Given the description of an element on the screen output the (x, y) to click on. 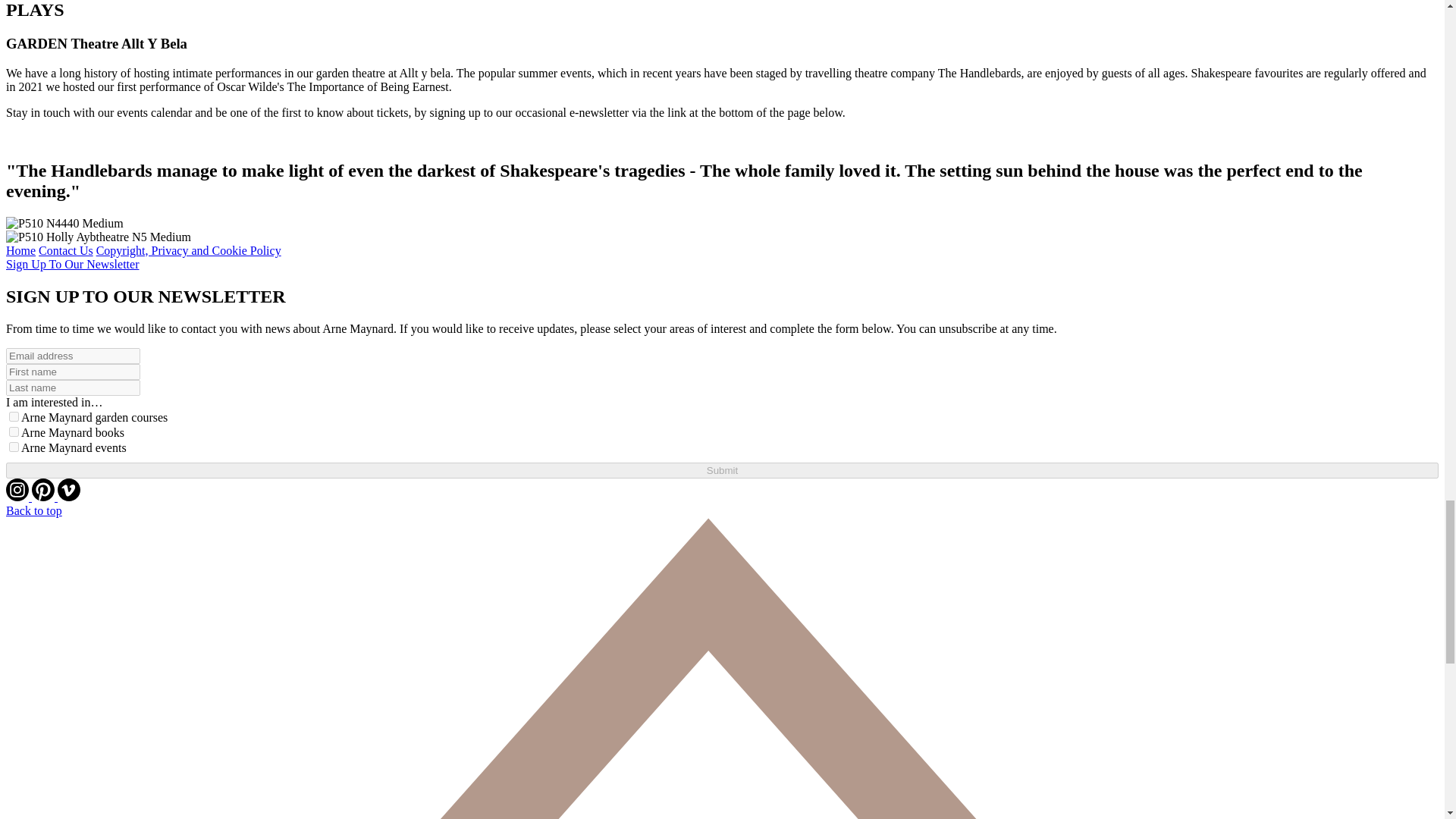
Copyright, Privacy and Cookie Policy (188, 250)
8 (13, 447)
4 (13, 431)
1 (13, 416)
Sign Up To Our Newsletter (71, 264)
Home (19, 250)
Contact Us (66, 250)
